Given the description of an element on the screen output the (x, y) to click on. 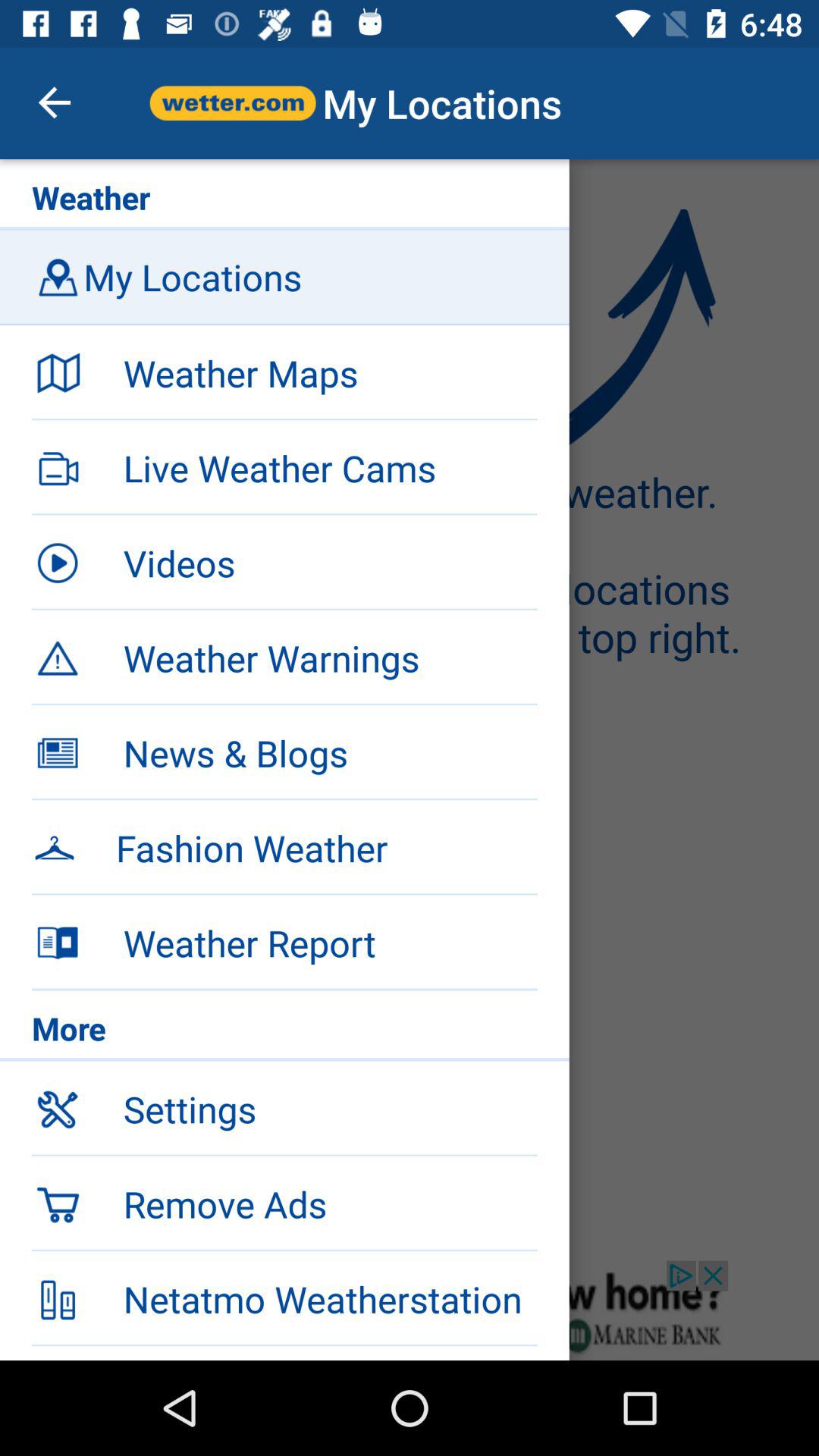
change netatmo weatherstation settings (409, 1310)
